Given the description of an element on the screen output the (x, y) to click on. 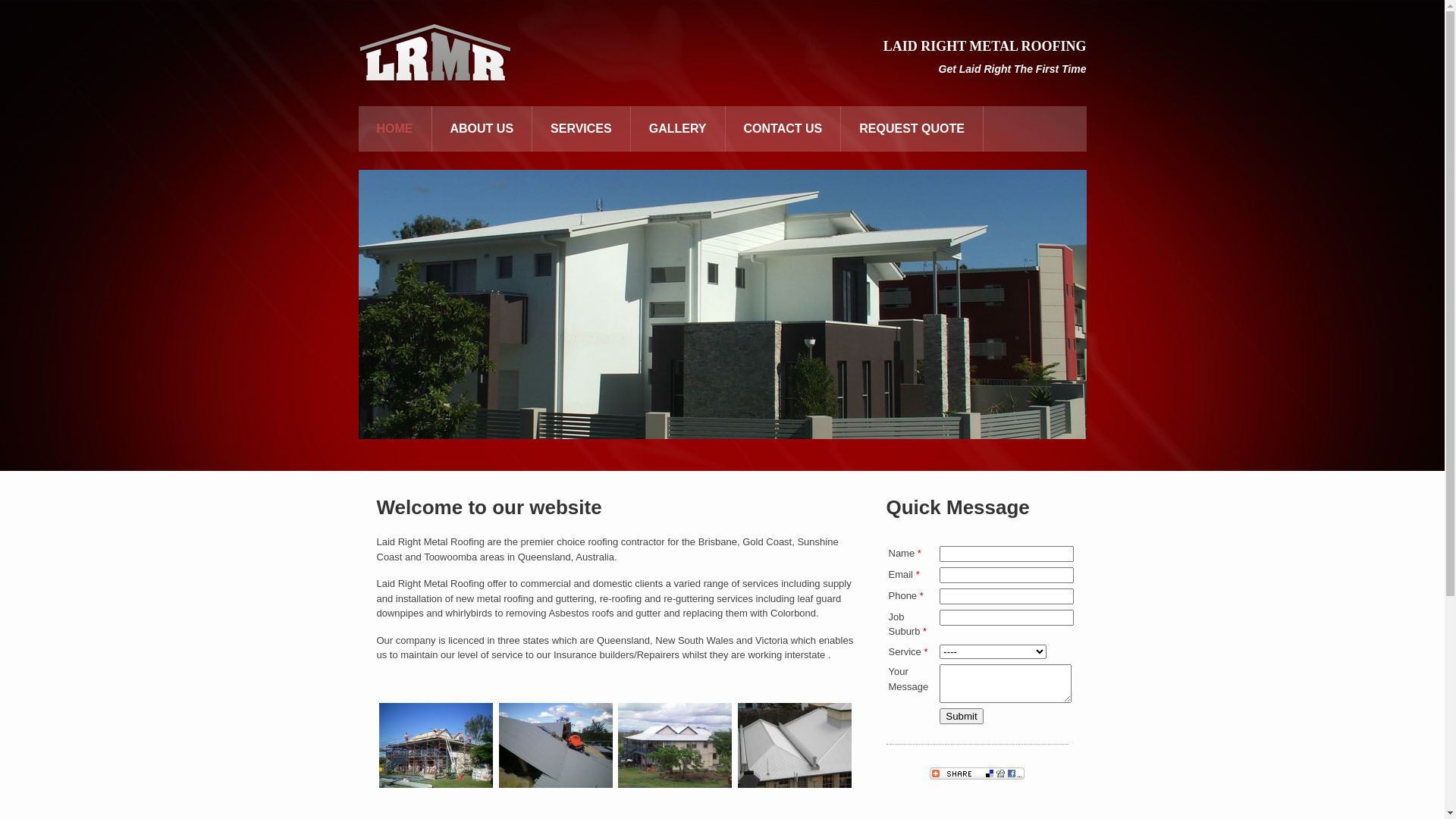
SERVICES Element type: text (581, 128)
REQUEST QUOTE Element type: text (911, 128)
HOME Element type: text (393, 128)
CONTACT US Element type: text (782, 128)
GALLERY Element type: text (677, 128)
ABOUT US Element type: text (482, 128)
Submit Element type: text (960, 716)
